Given the description of an element on the screen output the (x, y) to click on. 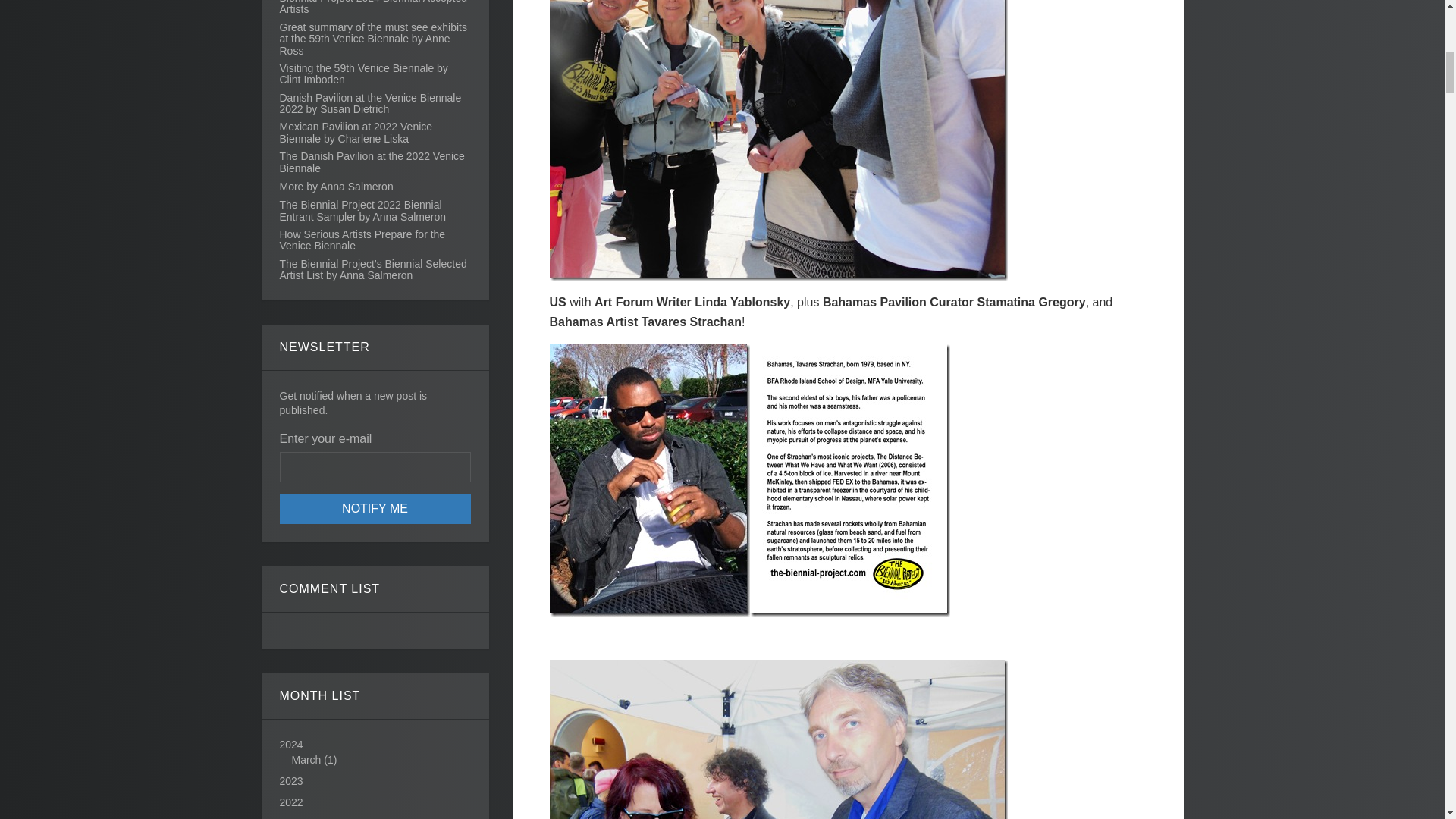
Notify me (374, 508)
